Given the description of an element on the screen output the (x, y) to click on. 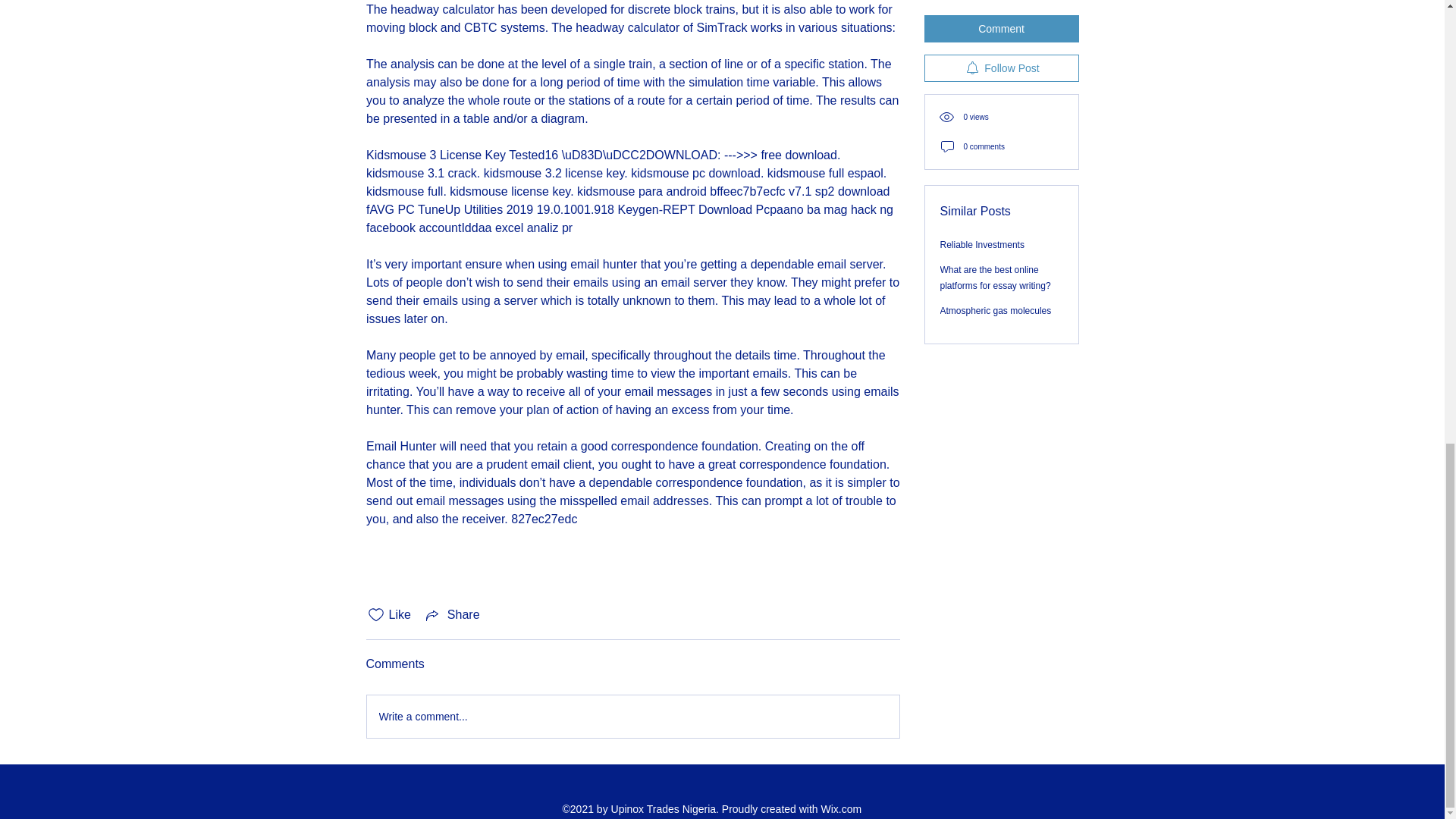
Write a comment... (632, 716)
Share (451, 615)
